Given the description of an element on the screen output the (x, y) to click on. 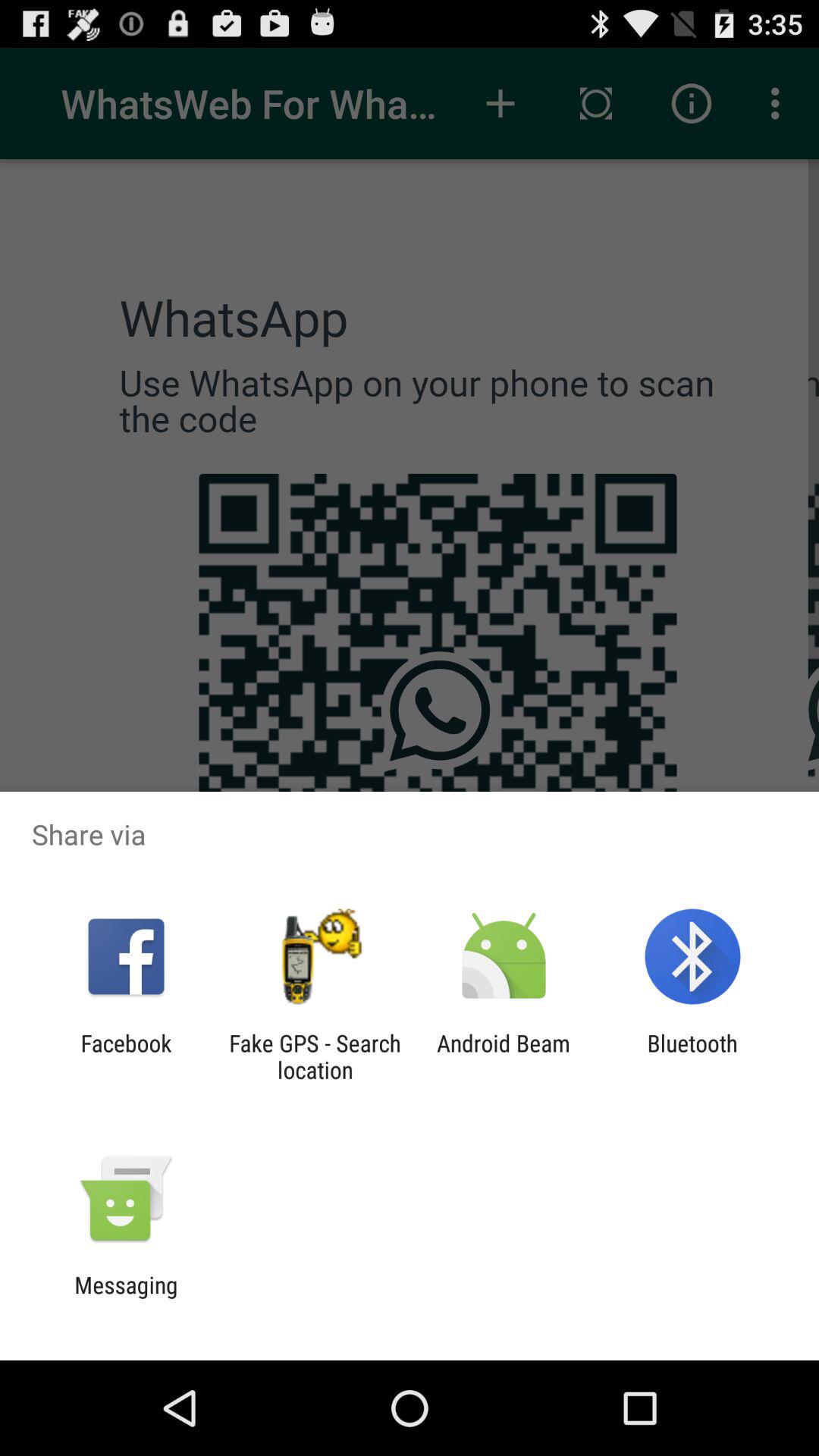
open the messaging (126, 1298)
